Given the description of an element on the screen output the (x, y) to click on. 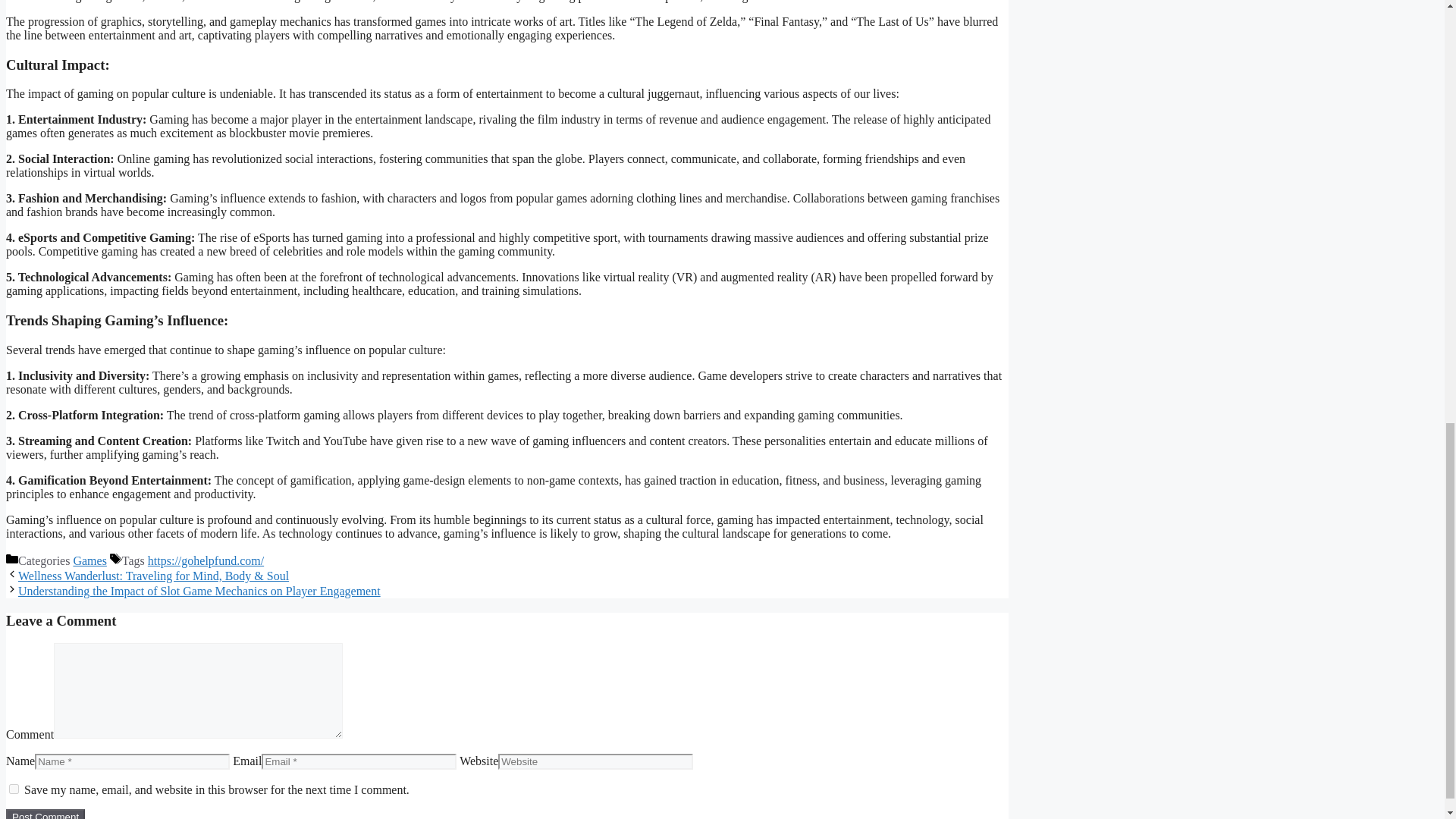
yes (13, 788)
Games (89, 560)
